Given the description of an element on the screen output the (x, y) to click on. 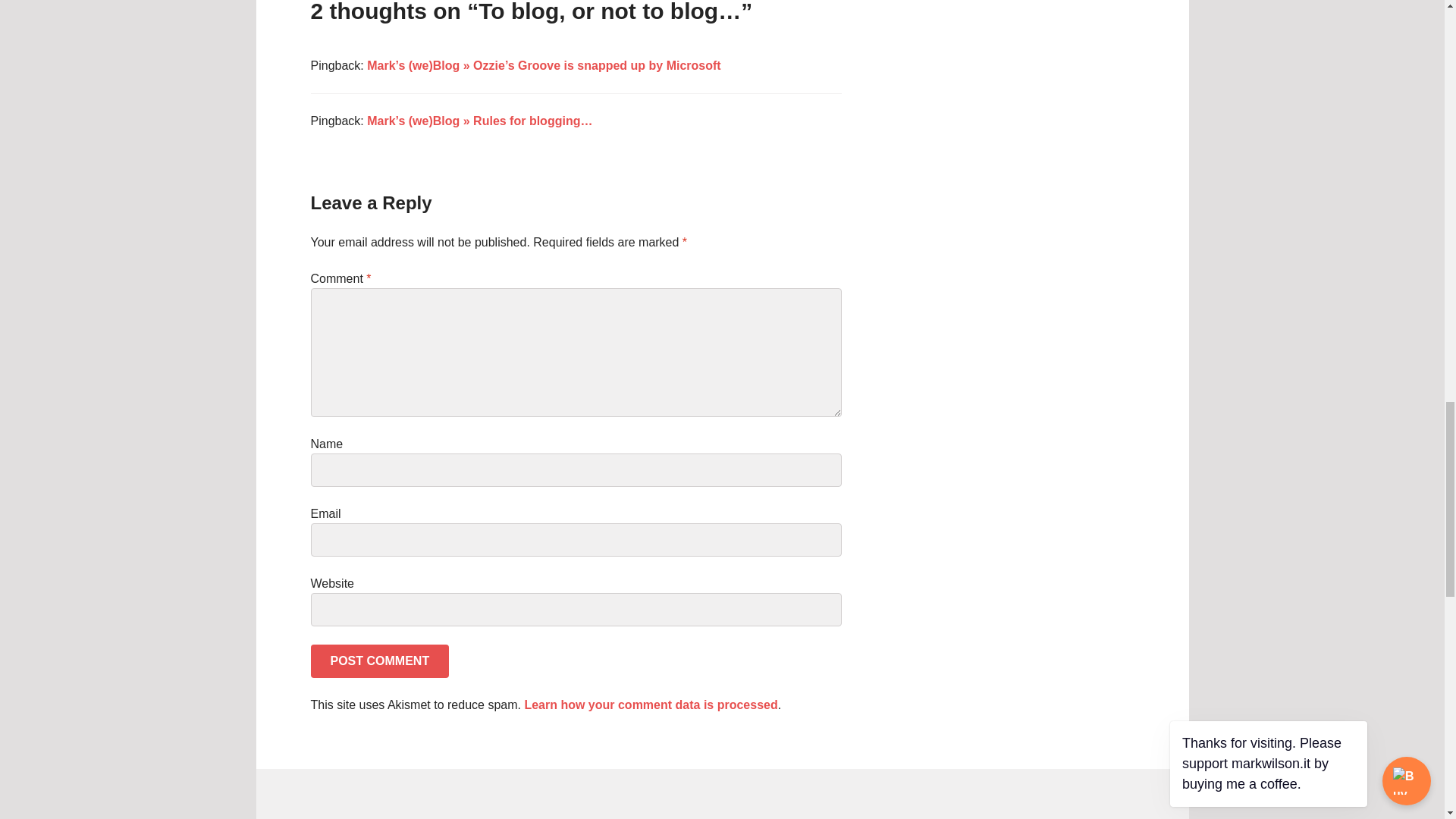
Post Comment (380, 661)
Post Comment (380, 661)
Learn how your comment data is processed (650, 704)
